Given the description of an element on the screen output the (x, y) to click on. 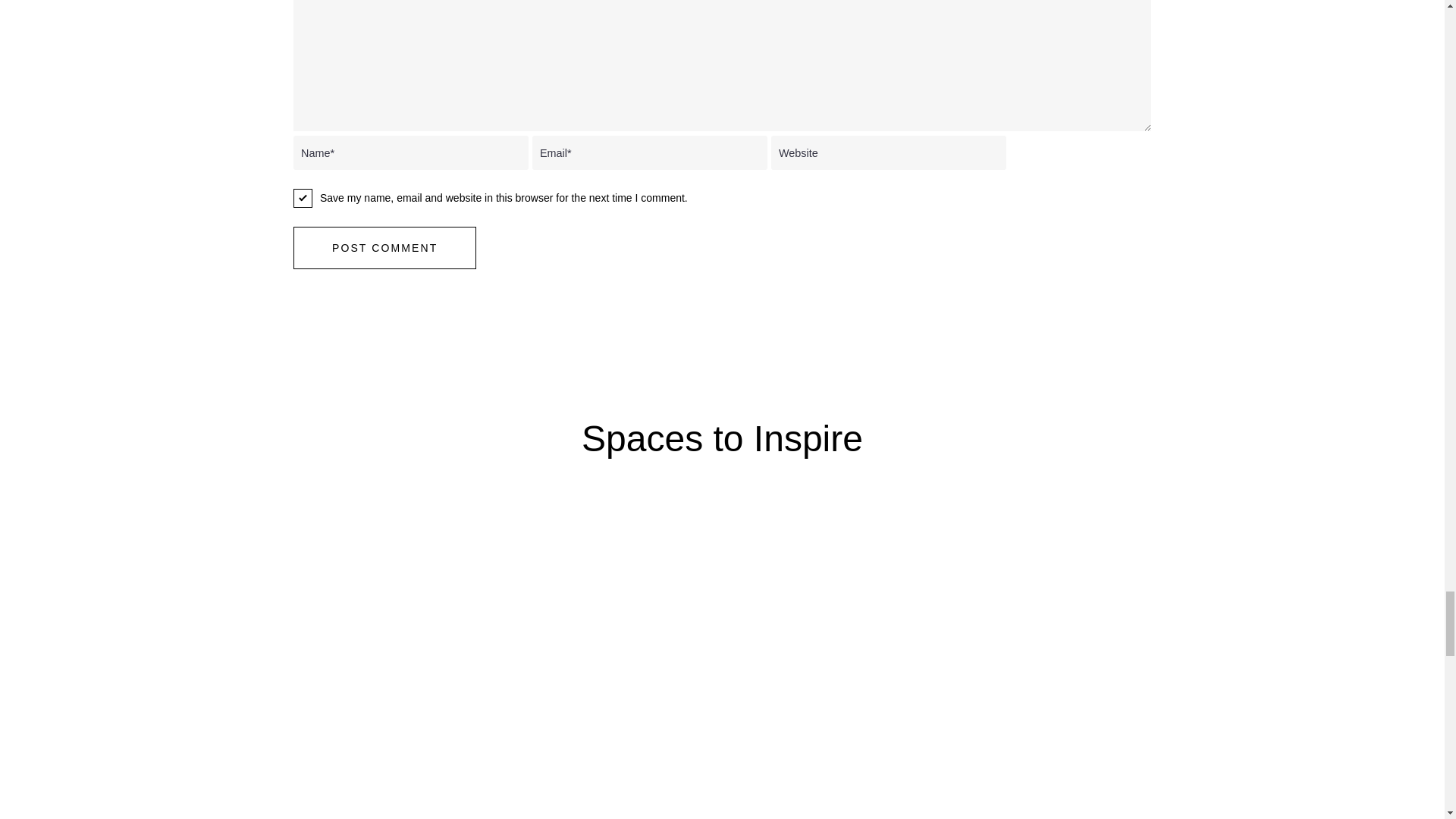
Post Comment (385, 247)
Post Comment (385, 247)
